Given the description of an element on the screen output the (x, y) to click on. 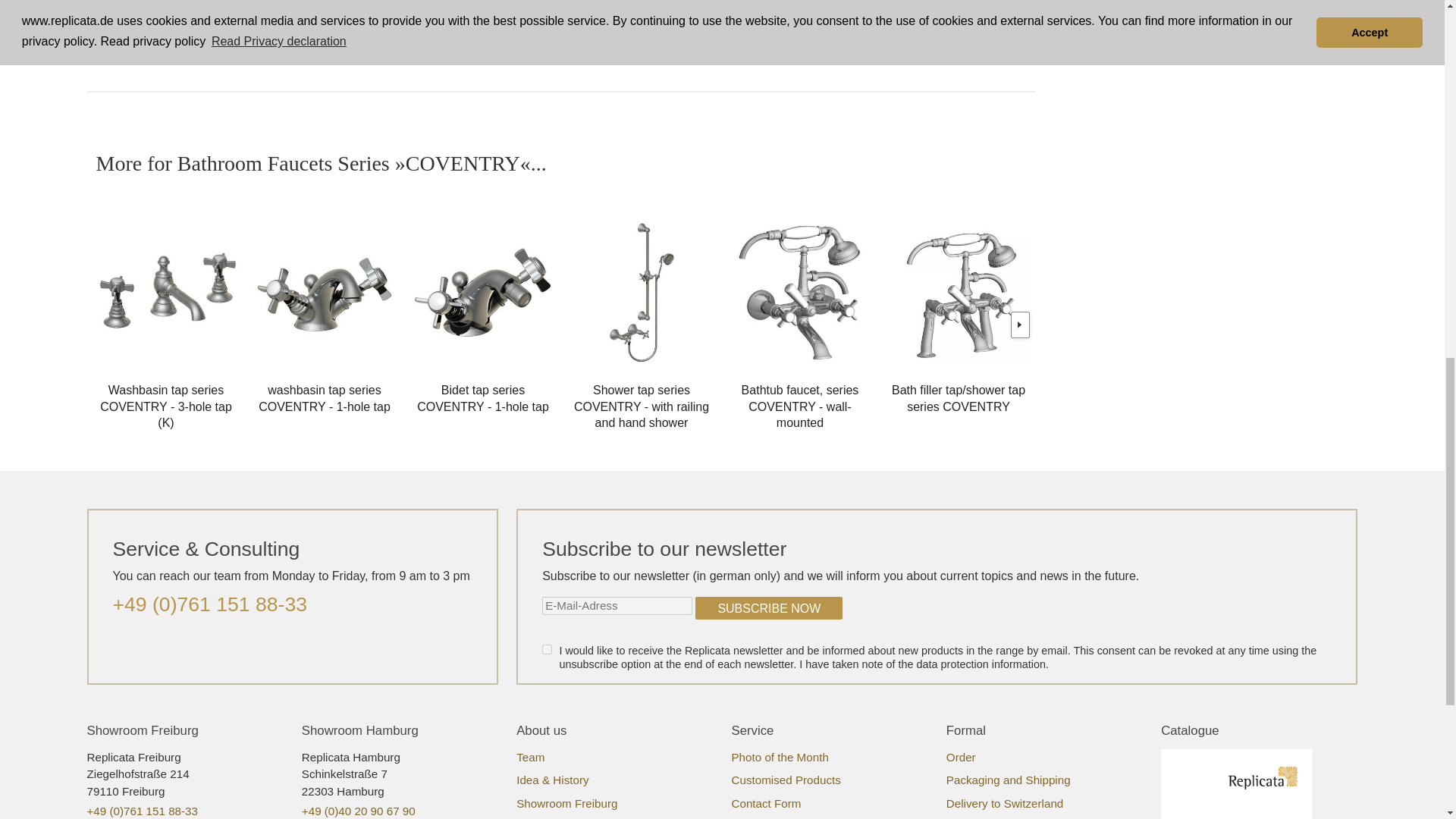
Bidet tap series COVENTRY - 1-hole tap (482, 392)
on (546, 649)
Shower tap series COVENTRY - with railing and hand shower (641, 295)
washbasin tap series COVENTRY - 1-hole tap (324, 392)
Subscribe now (769, 608)
washbasin tap series COVENTRY - 1-hole tap (324, 295)
Bidet tap series COVENTRY - 1-hole tap (482, 295)
